Given the description of an element on the screen output the (x, y) to click on. 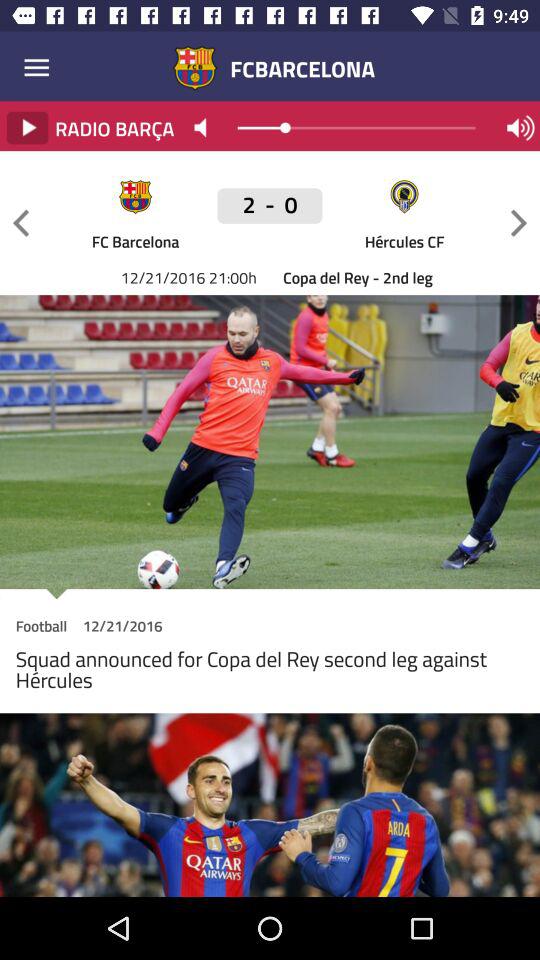
launch the item below the copa del rey icon (270, 593)
